Given the description of an element on the screen output the (x, y) to click on. 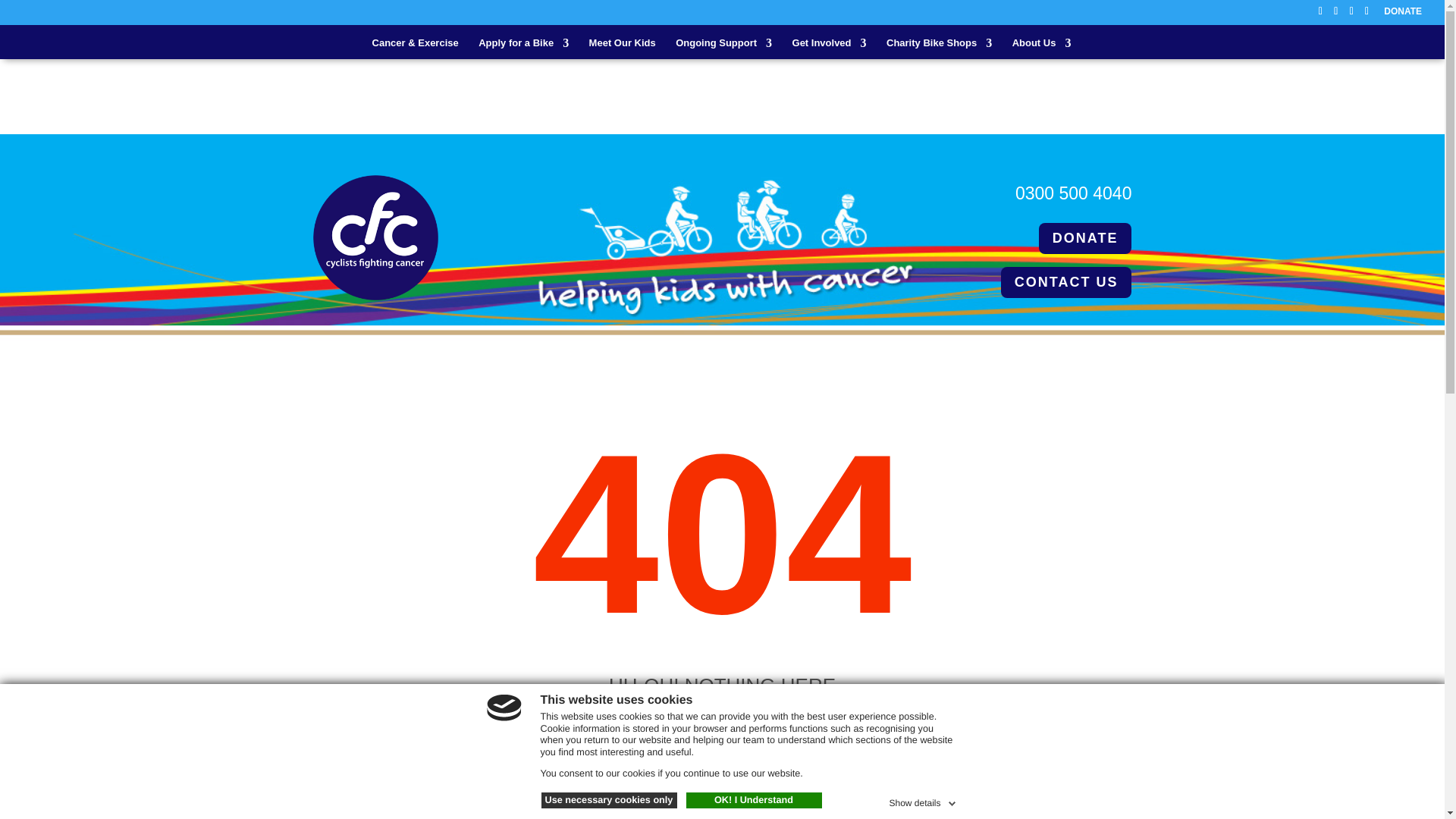
OK! I Understand (753, 800)
Show details (923, 800)
Use necessary cookies only (609, 800)
